Given the description of an element on the screen output the (x, y) to click on. 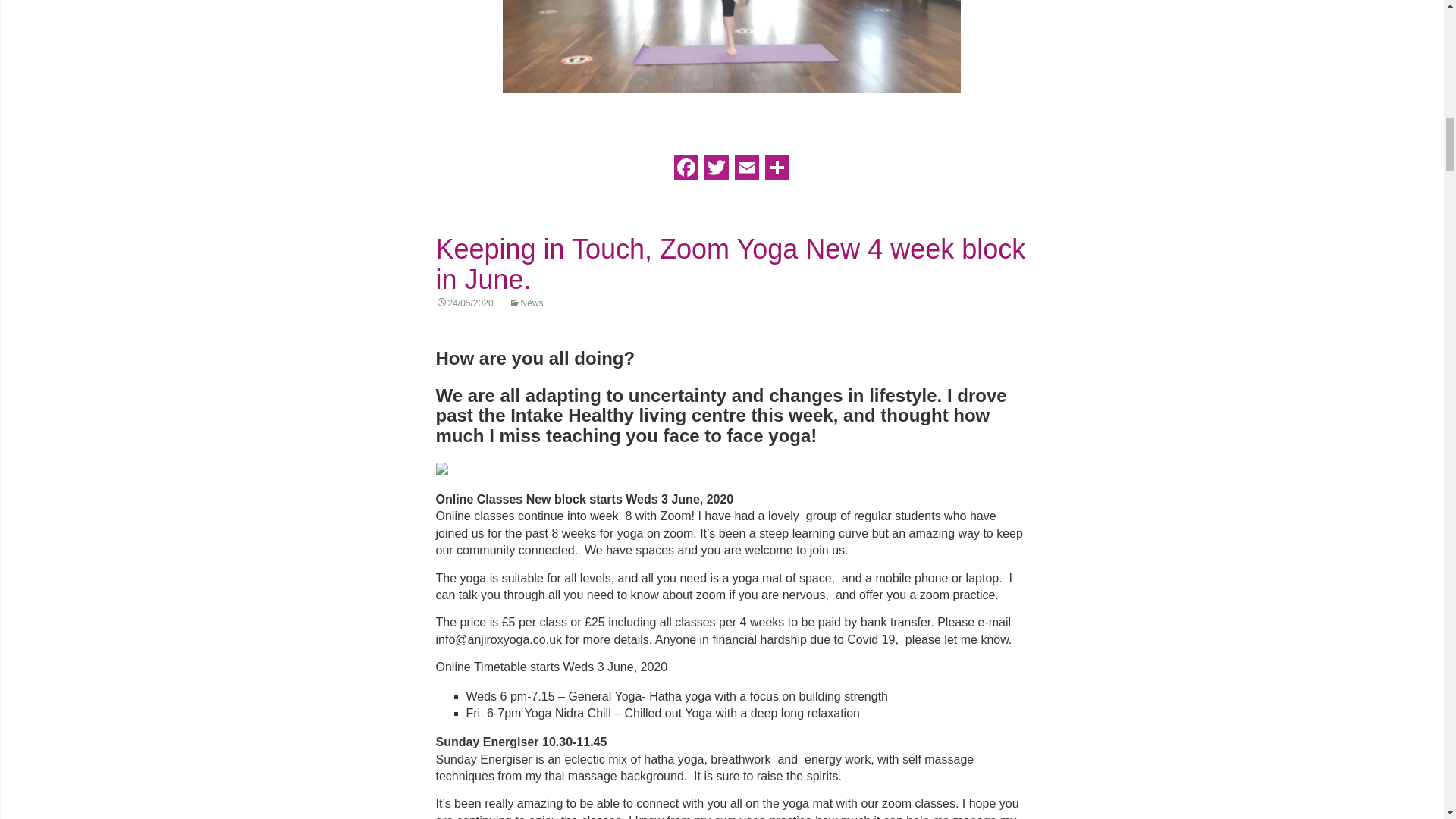
News (525, 303)
Keeping in Touch, Zoom Yoga New 4 week block in June. (730, 263)
Email (745, 172)
Facebook (684, 172)
Facebook (684, 172)
Twitter (715, 172)
Twitter (715, 172)
Share (776, 172)
Email (745, 172)
